Given the description of an element on the screen output the (x, y) to click on. 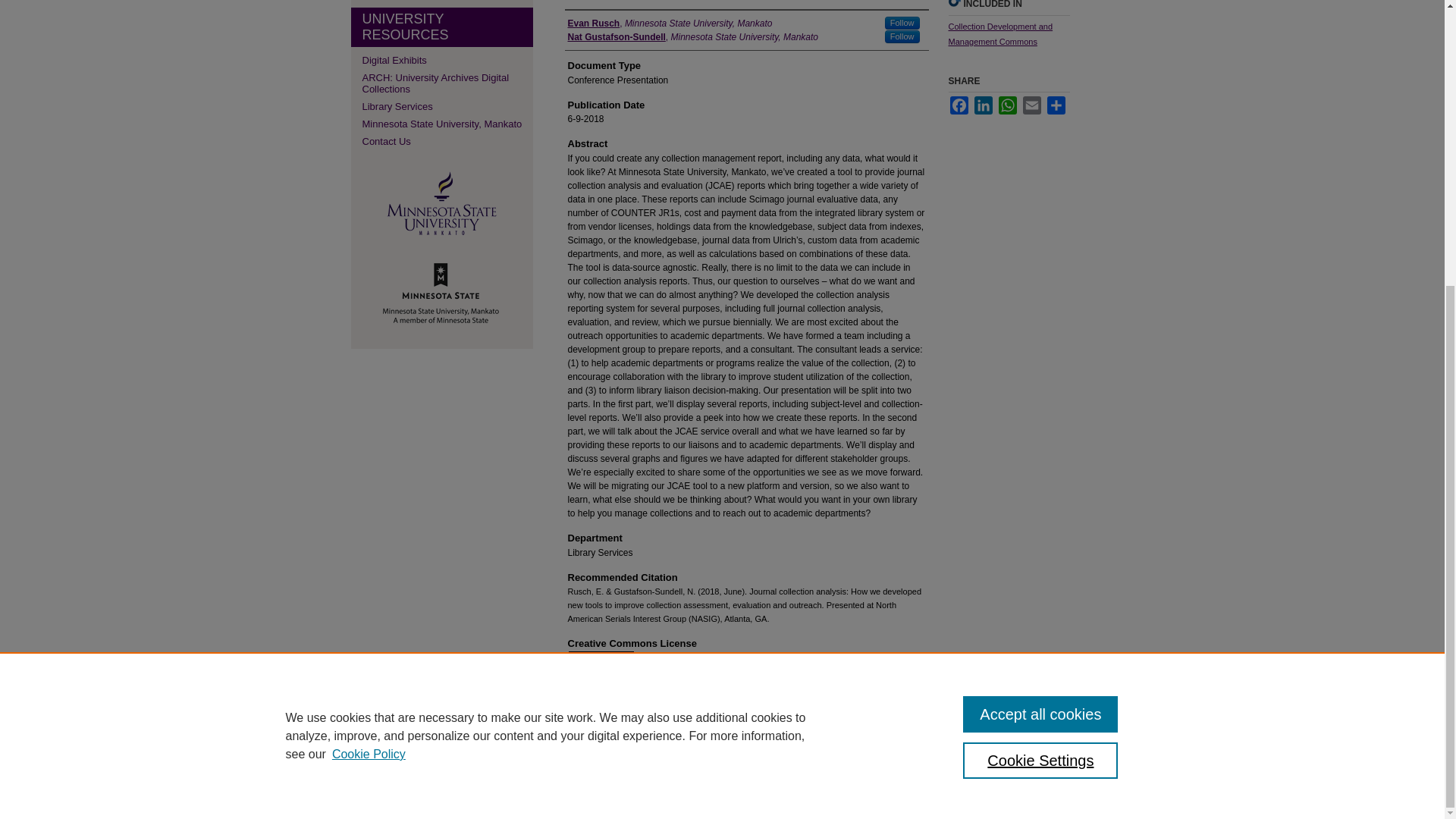
Creative Commons Attribution 4.0 International License (799, 685)
LinkedIn (982, 105)
Collection Development and Management Commons (999, 33)
Collection Development and Management Commons (999, 33)
Email (1031, 105)
Evan Rusch, Minnesota State University, Mankato (669, 23)
Follow Evan Rusch (902, 22)
Follow Nat Gustafson-Sundell (902, 36)
Nat Gustafson-Sundell, Minnesota State University, Mankato (692, 37)
Share (1055, 105)
Facebook (958, 105)
Follow (902, 22)
WhatsApp (1006, 105)
Follow (902, 36)
